Given the description of an element on the screen output the (x, y) to click on. 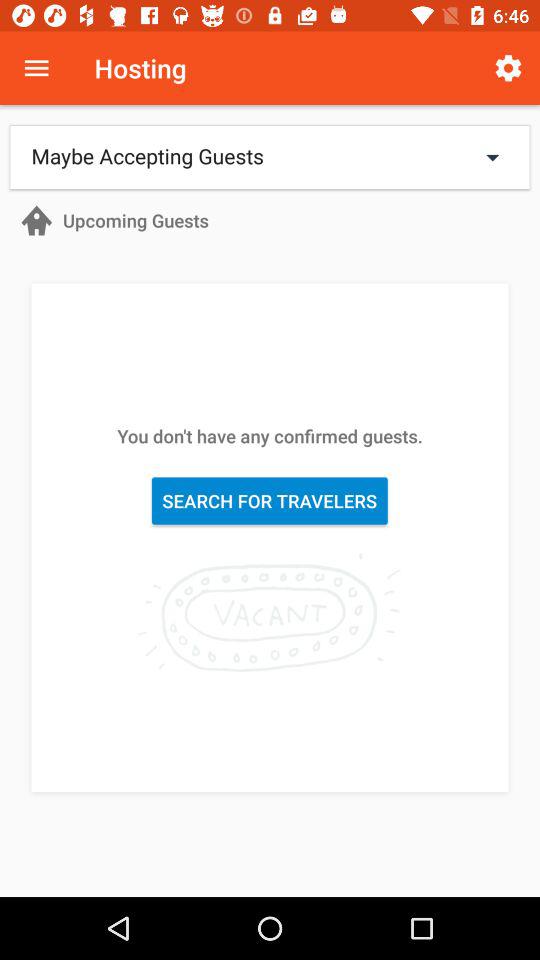
tap the icon at the top right corner (508, 67)
